Given the description of an element on the screen output the (x, y) to click on. 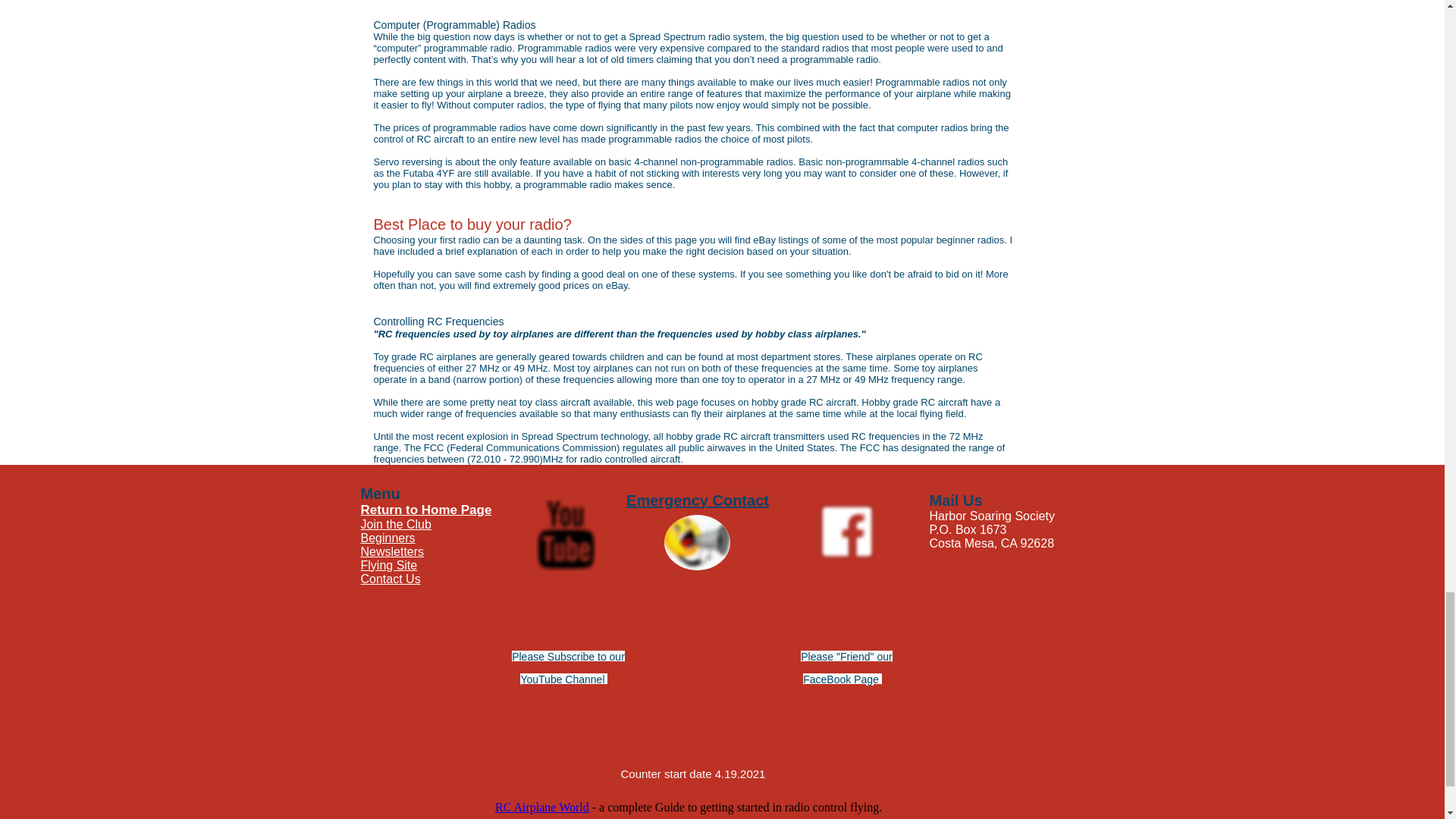
Flying Site (389, 564)
Join the Club (395, 523)
Emergency Contact (697, 500)
Return to Home Page (426, 509)
Contact Us (390, 578)
Embedded Content (721, 806)
Newsletters (393, 551)
Beginners (387, 537)
